Given the description of an element on the screen output the (x, y) to click on. 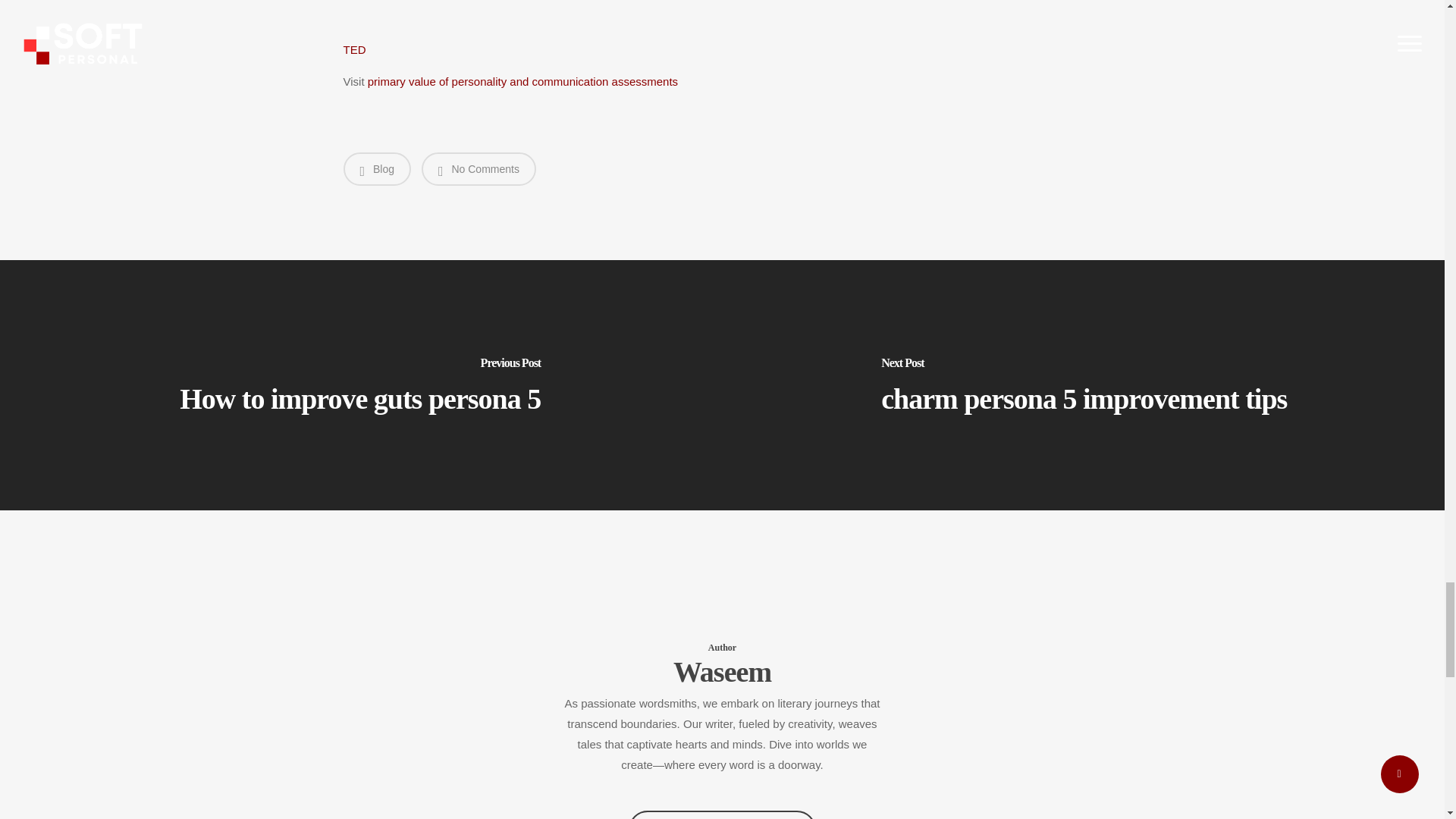
primary value of personality and communication assessments (523, 81)
MORE POSTS BY WASEEM (721, 814)
No Comments (478, 168)
Blog (376, 168)
TED (353, 49)
